Given the description of an element on the screen output the (x, y) to click on. 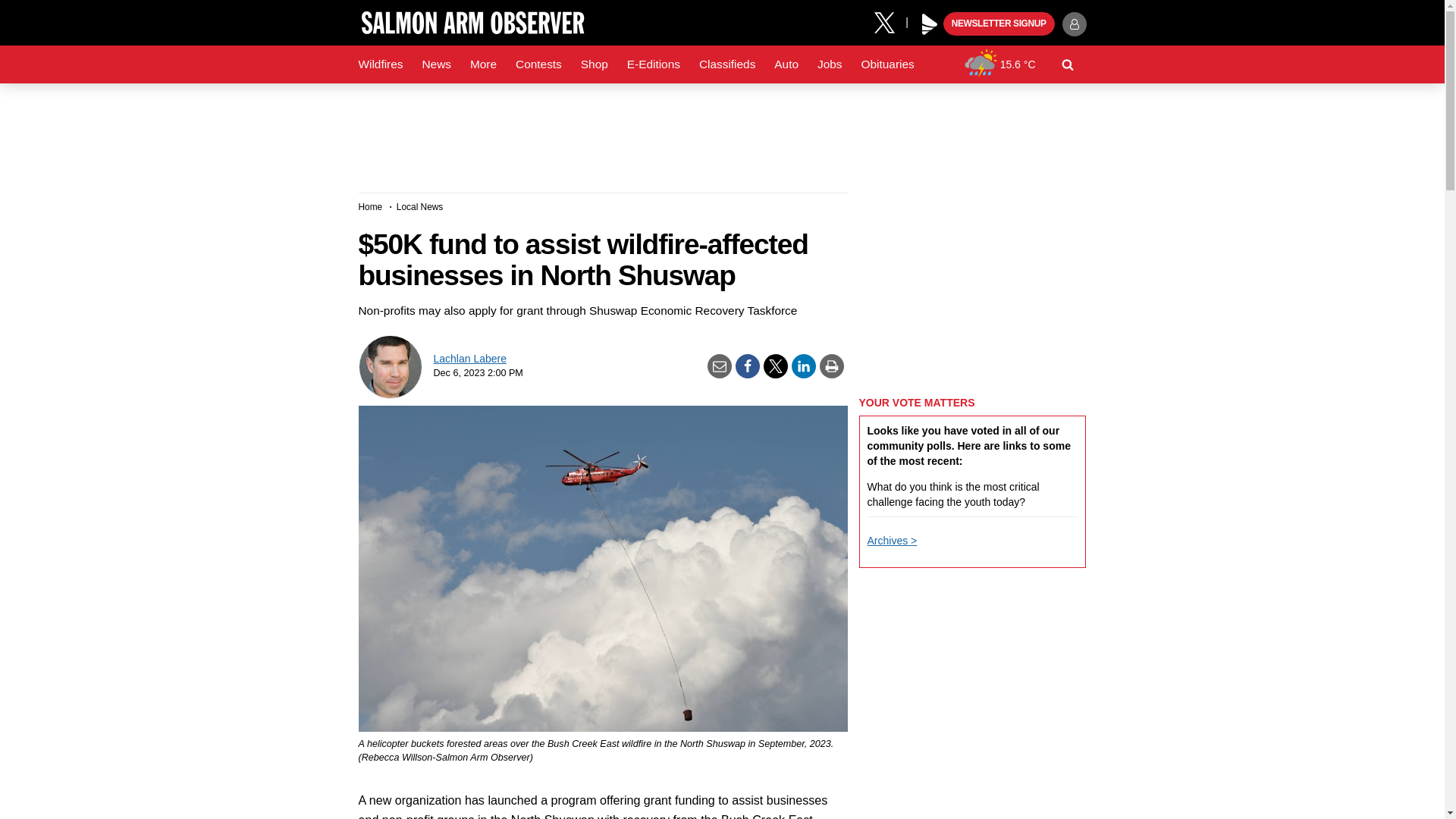
Wildfires (380, 64)
NEWSLETTER SIGNUP (998, 24)
News (435, 64)
X (889, 21)
Black Press Media (929, 24)
Play (929, 24)
